Given the description of an element on the screen output the (x, y) to click on. 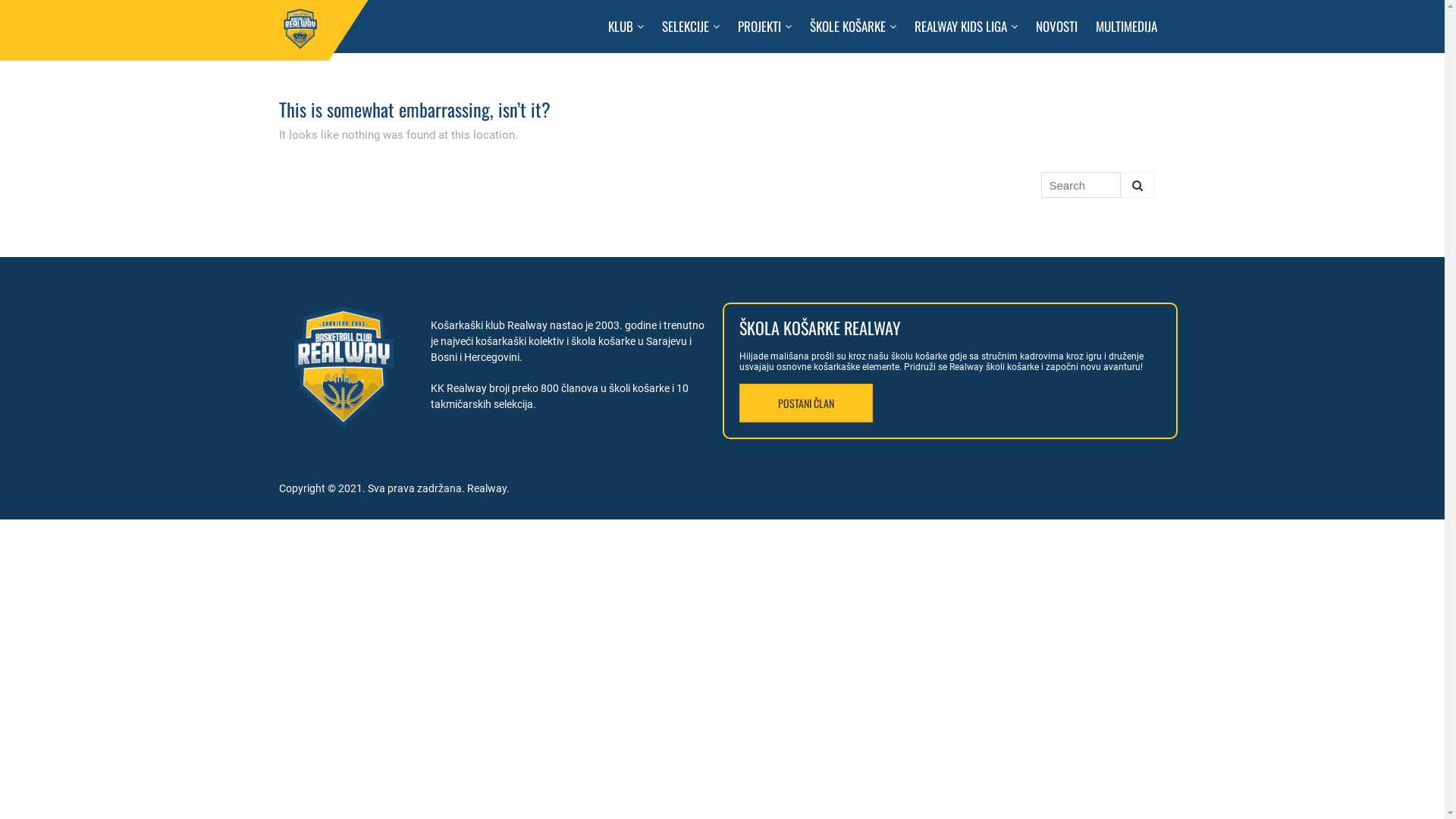
Search Element type: text (1137, 184)
cropped-rw-icon.png Element type: hover (343, 366)
PROJEKTI Element type: text (764, 26)
SELEKCIJE Element type: text (690, 26)
REALWAY KIDS LIGA Element type: text (965, 26)
MULTIMEDIJA Element type: text (1125, 26)
NOVOSTI Element type: text (1056, 26)
KLUB Element type: text (625, 26)
